Given the description of an element on the screen output the (x, y) to click on. 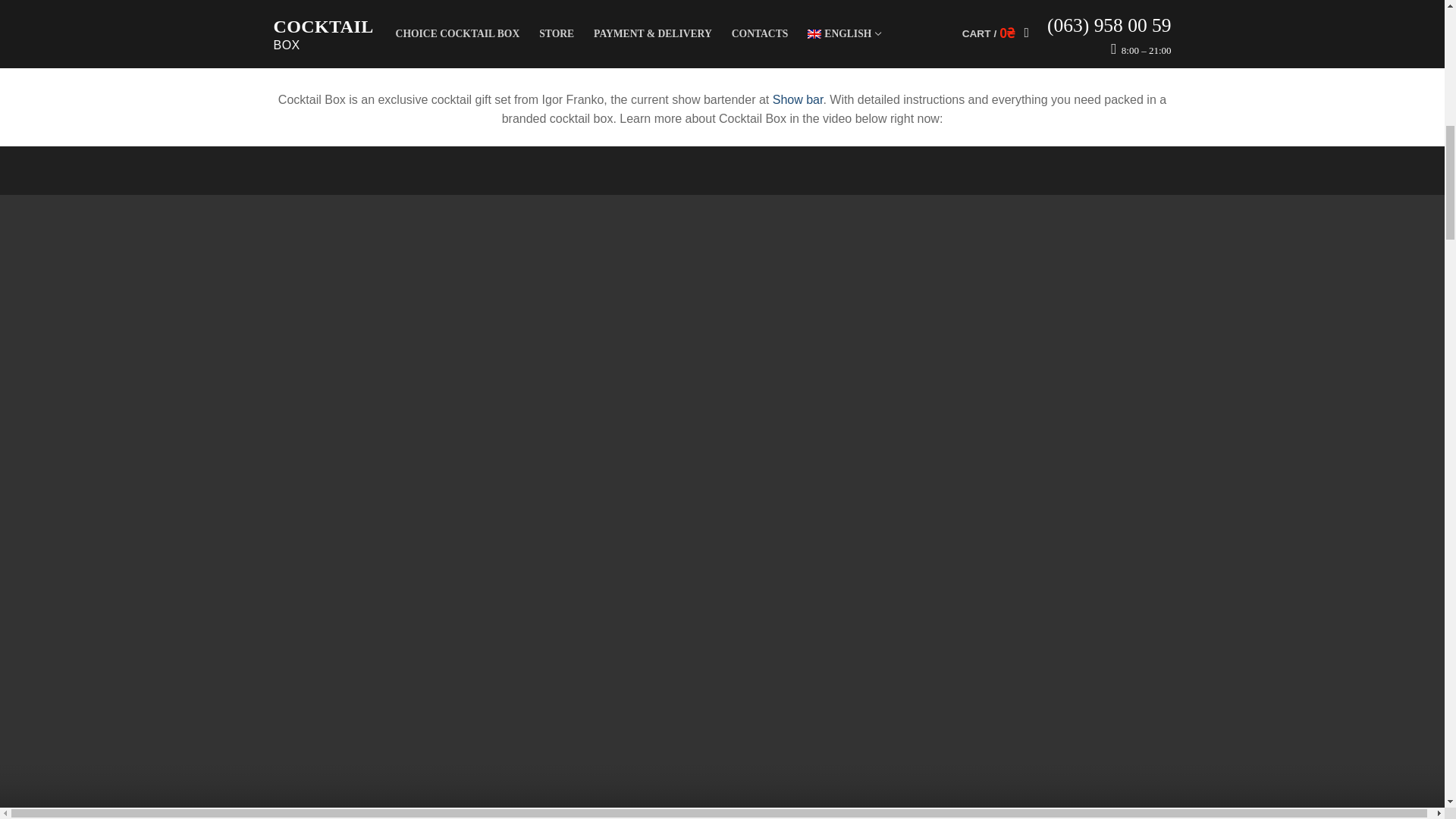
Show bar (798, 99)
